Given the description of an element on the screen output the (x, y) to click on. 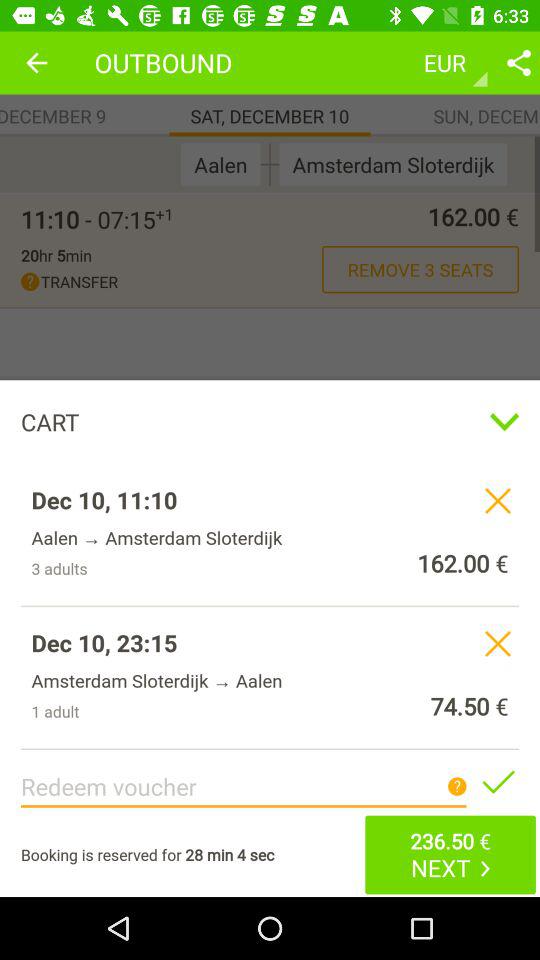
redeem voucher (498, 781)
